Given the description of an element on the screen output the (x, y) to click on. 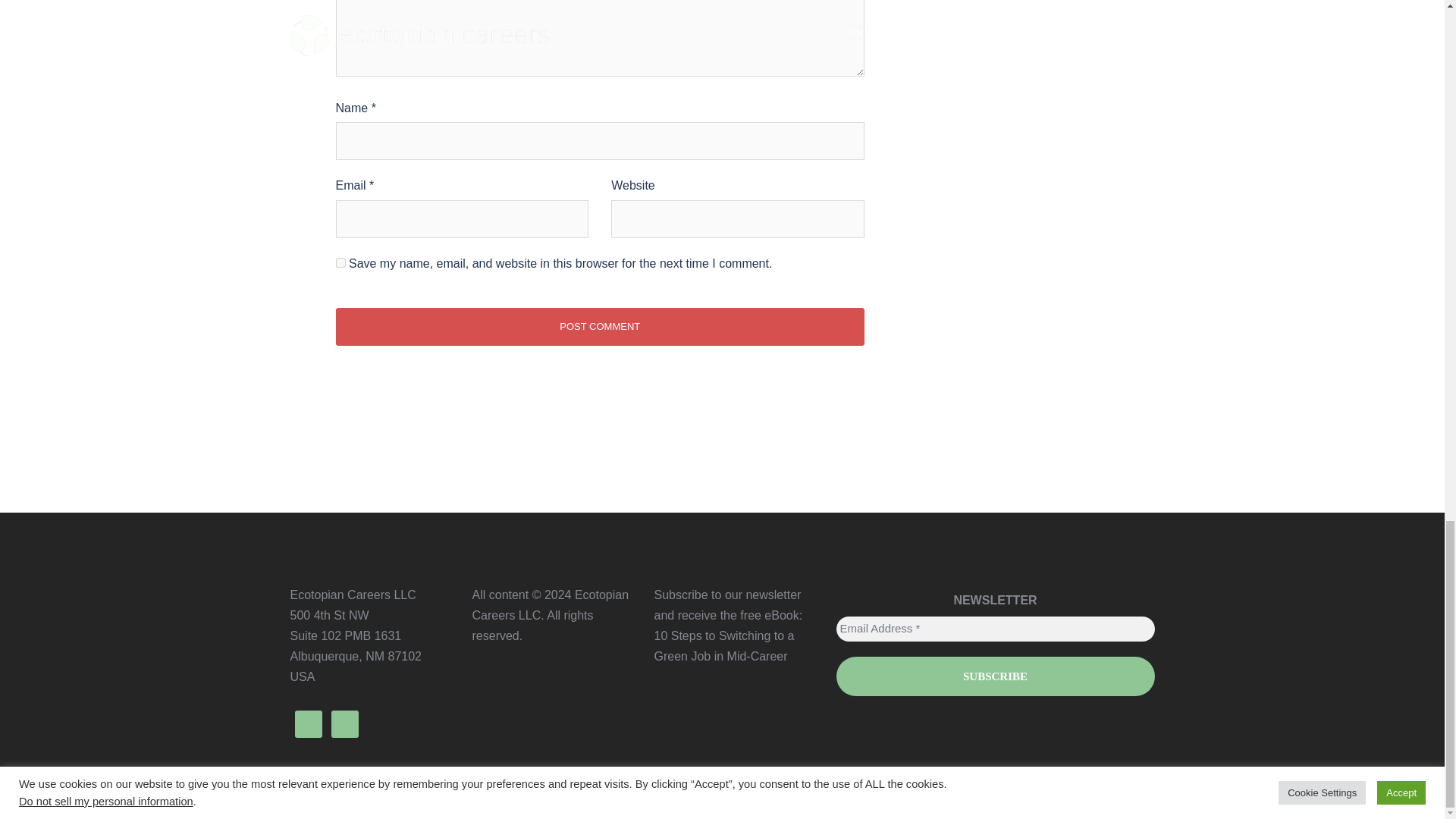
subscribe (994, 676)
Post Comment (599, 326)
yes (339, 262)
subscribe (994, 676)
Email Address (994, 628)
Post Comment (599, 326)
